Given the description of an element on the screen output the (x, y) to click on. 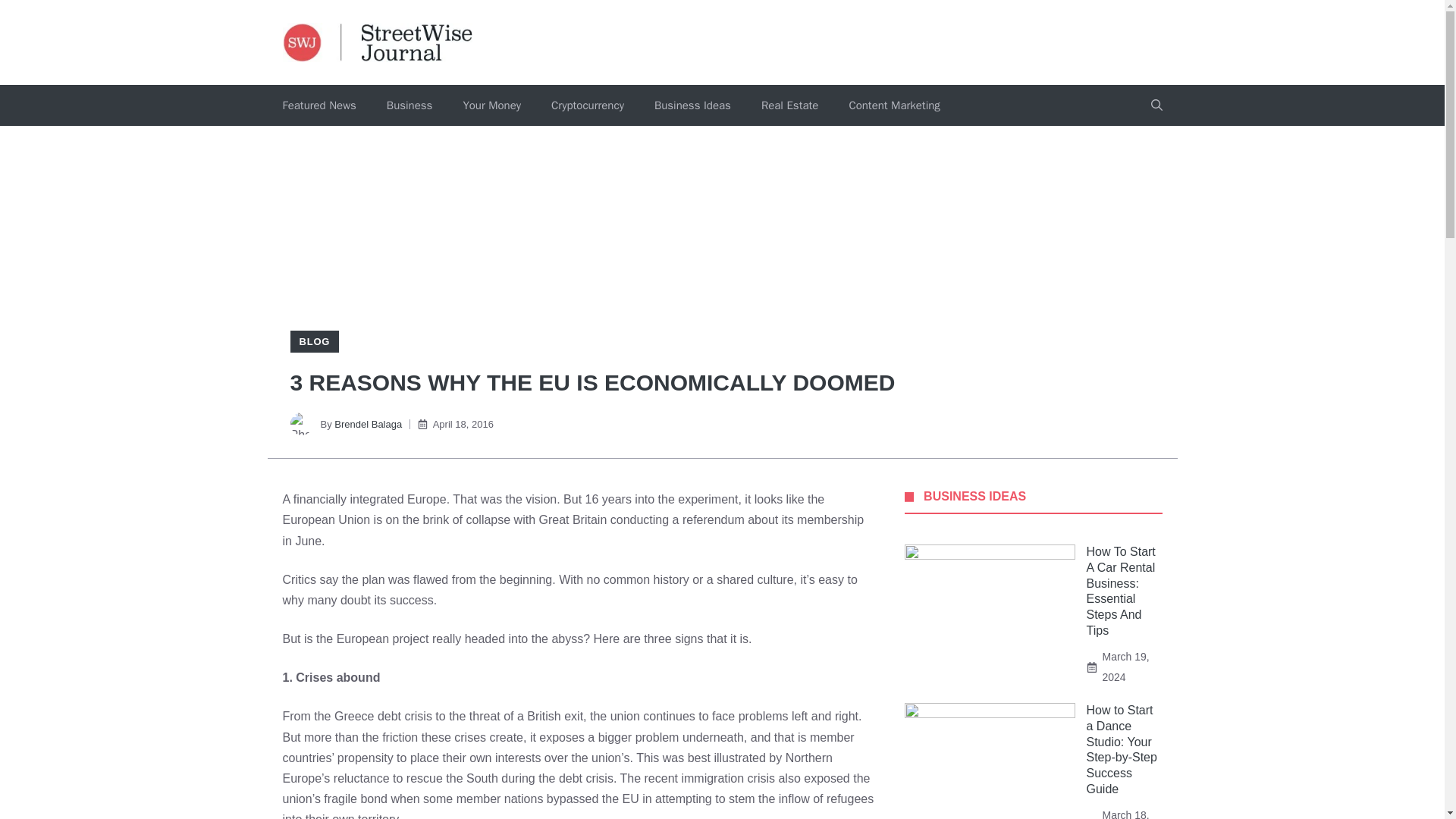
Brendel Balaga (367, 423)
Business Ideas (692, 105)
Business (409, 105)
Content Marketing (893, 105)
Featured News (318, 105)
Real Estate (788, 105)
Your Money (490, 105)
BLOG (314, 341)
Cryptocurrency (587, 105)
